Given the description of an element on the screen output the (x, y) to click on. 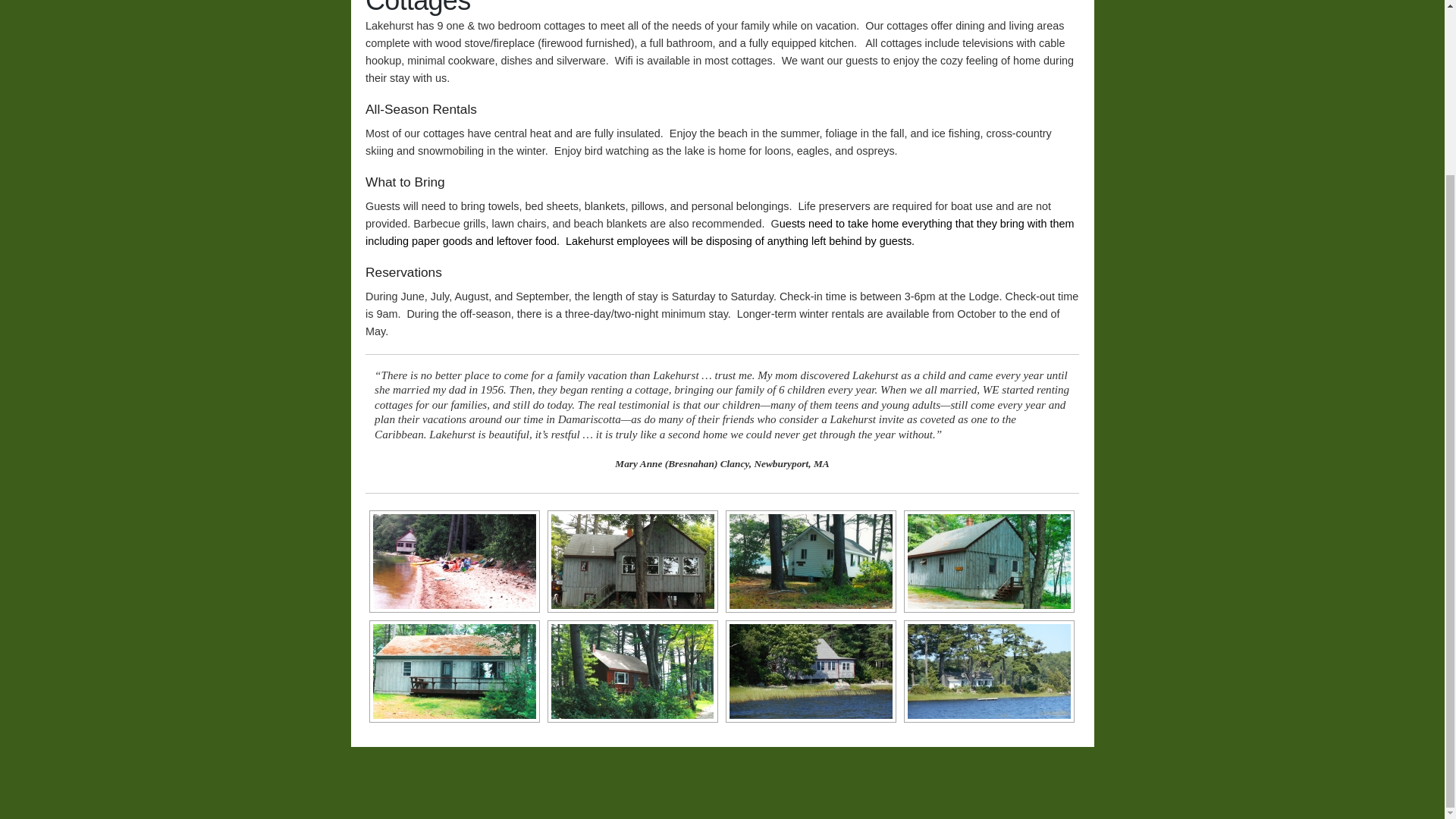
cottage2 (453, 671)
cottage3 (988, 561)
cottage6 (453, 561)
cottage5 (632, 561)
cottage4 (810, 561)
cottage1 (632, 671)
